Given the description of an element on the screen output the (x, y) to click on. 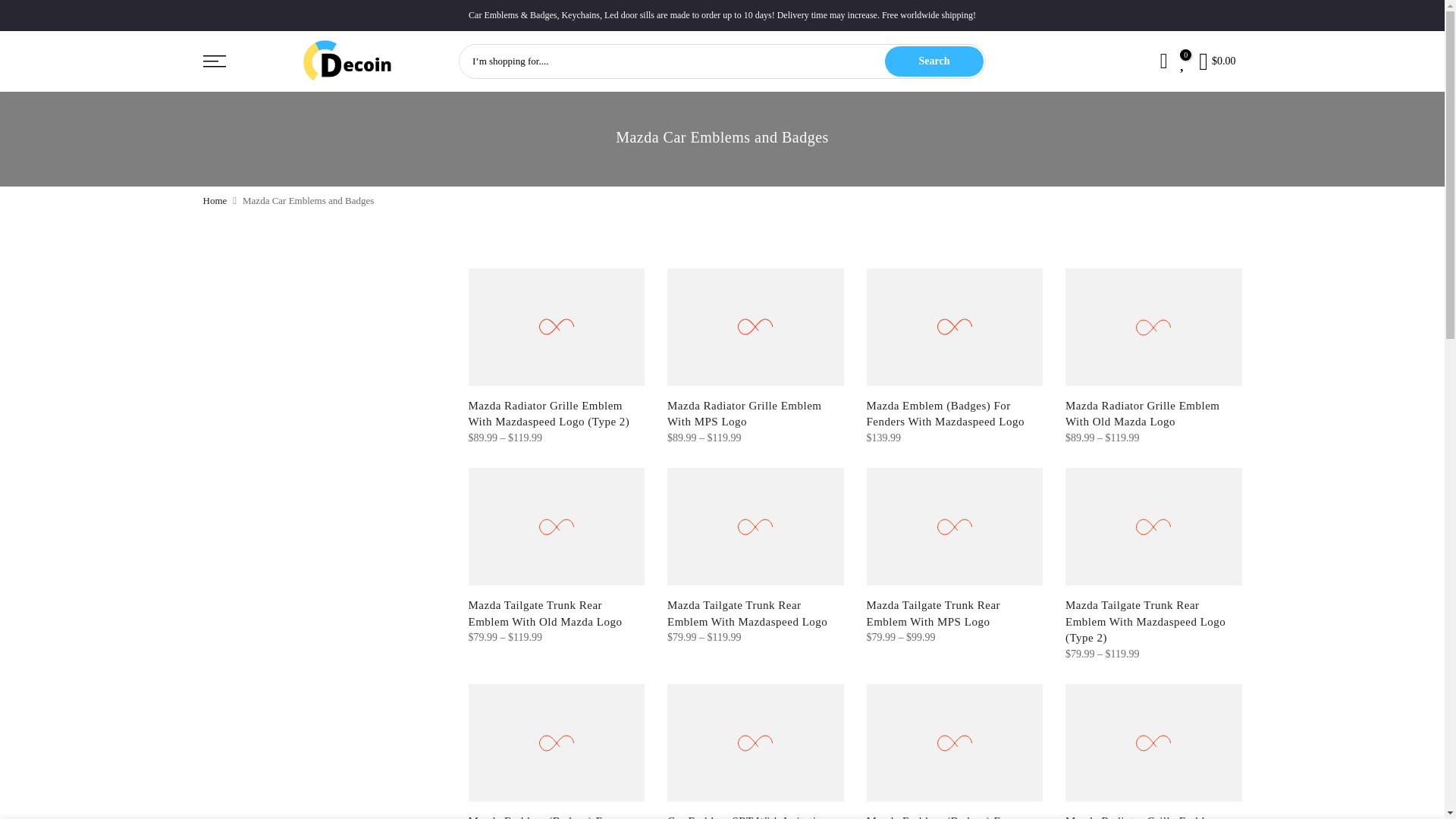
Mazda Tailgate Trunk Rear Emblem With Mazdaspeed Logo (746, 612)
Mazda Radiator Grille Emblem With MPS Logo (744, 413)
Home (215, 201)
Car Emblem SRT With Imitation Carbon Fiber (747, 816)
Mazda Tailgate Trunk Rear Emblem With MPS Logo (933, 612)
Mazda Radiator Grille Emblem With Old Mazda Logo (1142, 413)
Mazda Tailgate Trunk Rear Emblem With Old Mazda Logo (545, 612)
Search (934, 60)
